Given the description of an element on the screen output the (x, y) to click on. 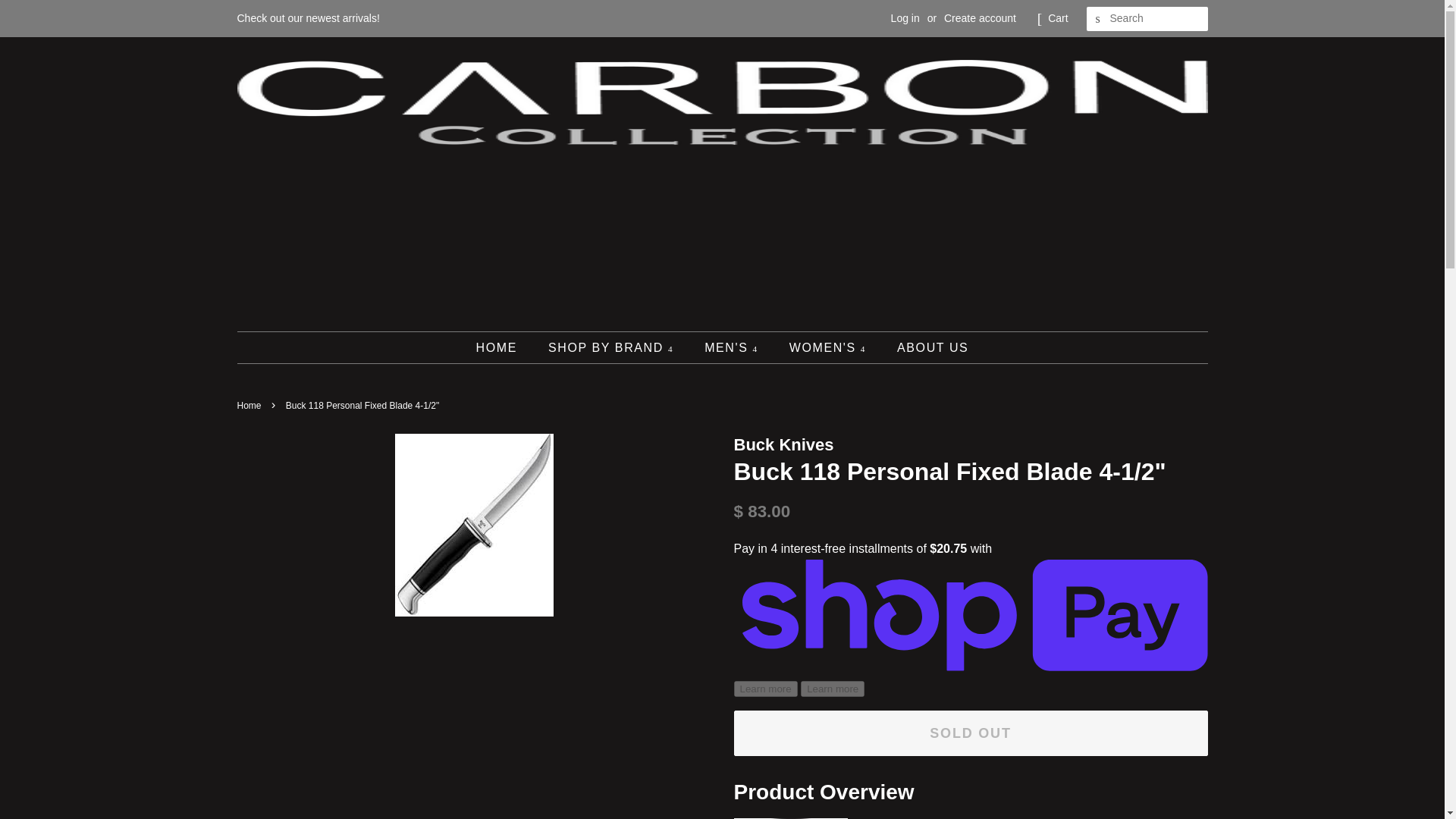
Log in (905, 18)
Check out our newest arrivals! (306, 18)
Create account (979, 18)
Back to the frontpage (249, 405)
Cart (1057, 18)
SEARCH (1097, 18)
